Given the description of an element on the screen output the (x, y) to click on. 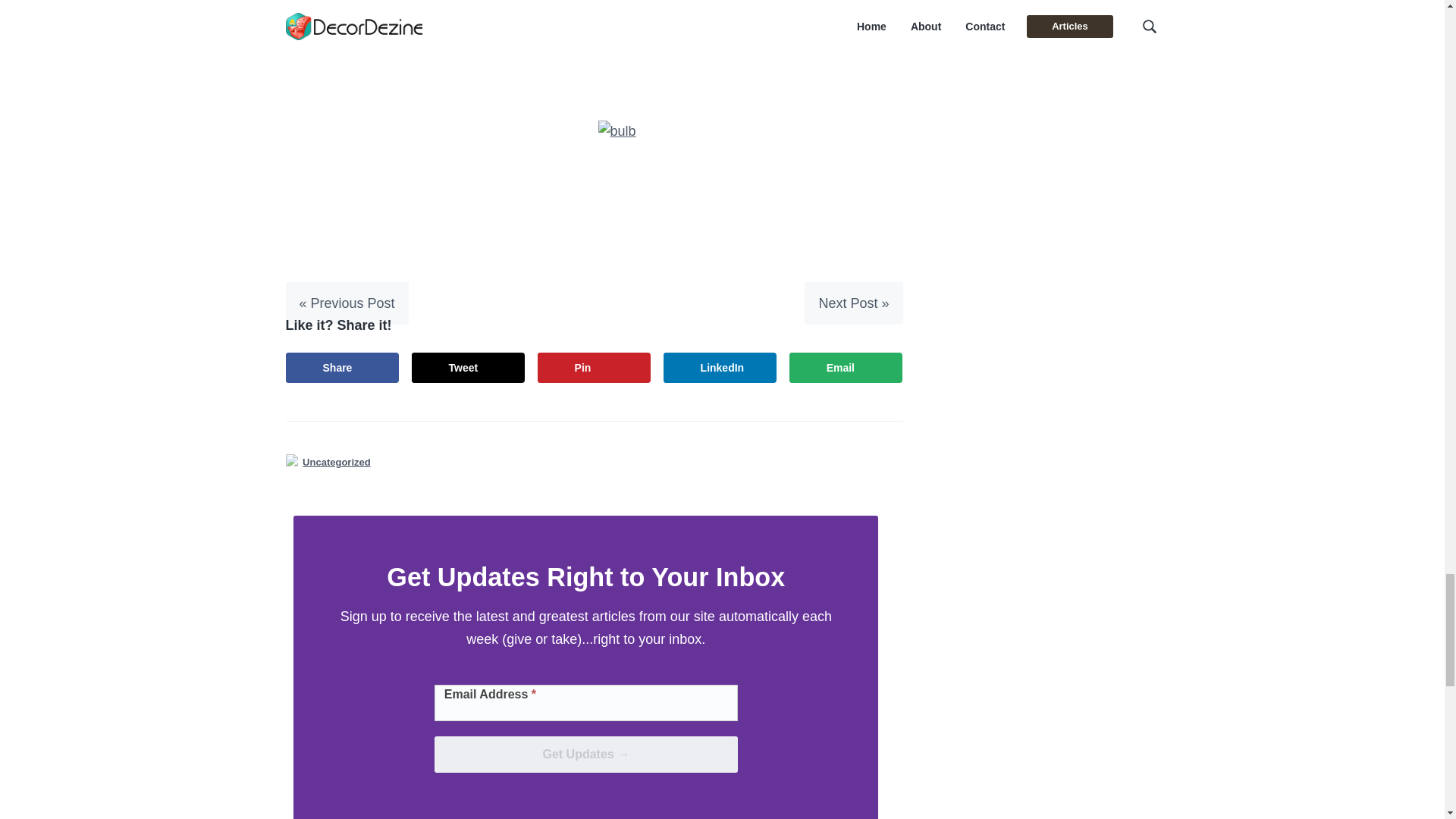
Uncategorized (336, 462)
LinkedIn (720, 367)
Email (845, 367)
Share on LinkedIn (720, 367)
Share (341, 367)
Tweet (468, 367)
Share on Facebook (341, 367)
Save to Pinterest (593, 367)
Pin (593, 367)
Share on X (468, 367)
